Given the description of an element on the screen output the (x, y) to click on. 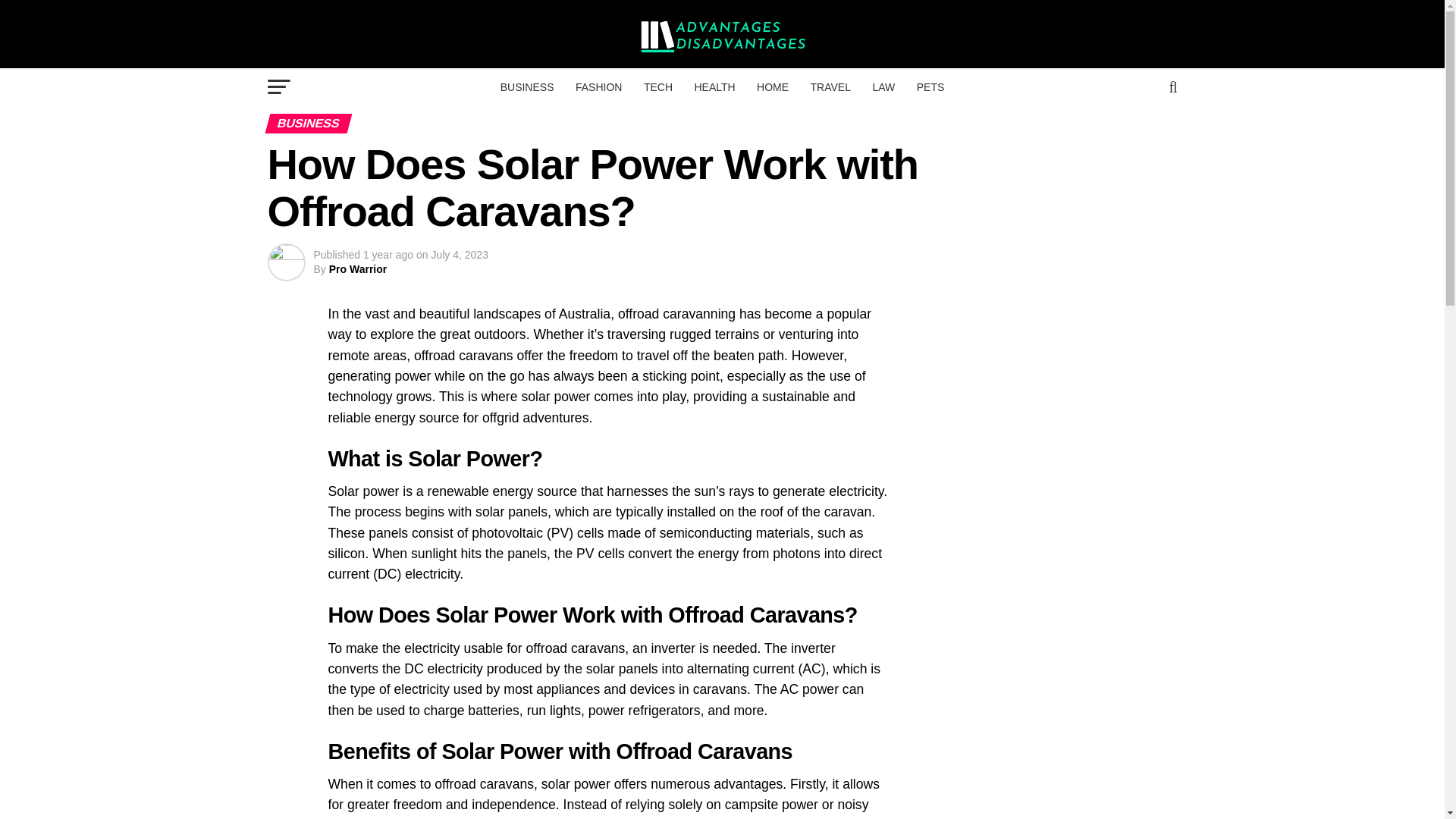
HOME (772, 86)
Posts by Pro Warrior (358, 268)
FASHION (598, 86)
HEALTH (714, 86)
TRAVEL (831, 86)
BUSINESS (527, 86)
TECH (657, 86)
